Given the description of an element on the screen output the (x, y) to click on. 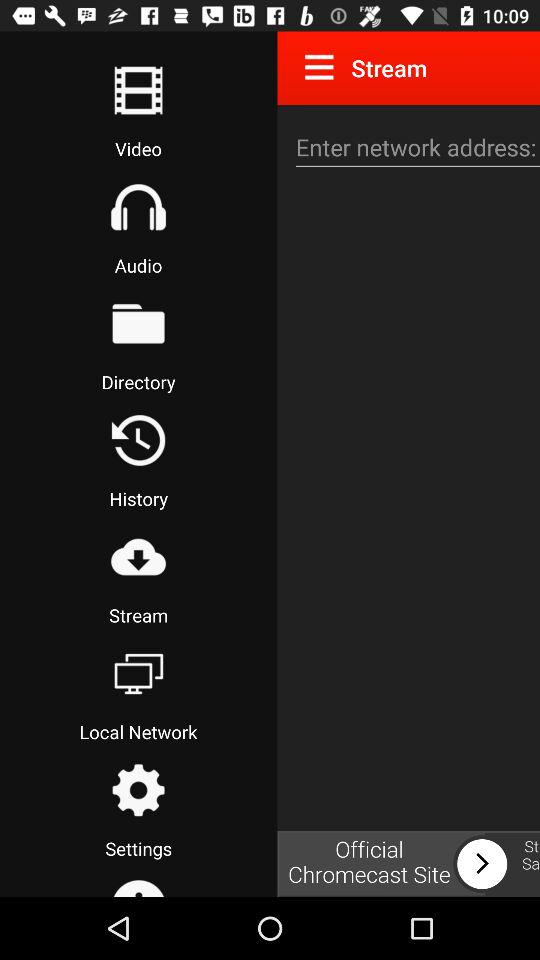
go to settings (138, 790)
